Given the description of an element on the screen output the (x, y) to click on. 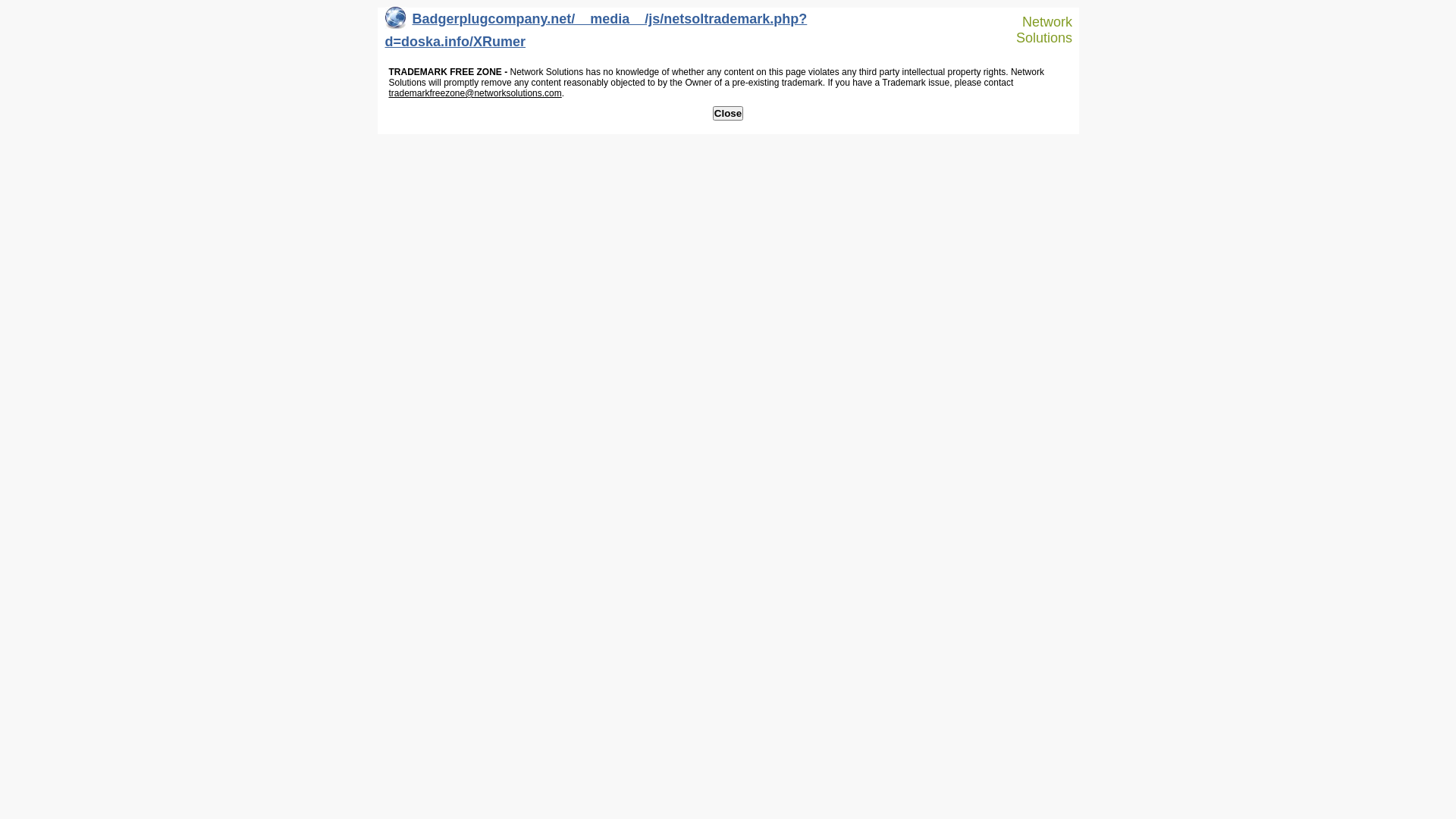
Network Solutions Element type: text (1037, 29)
Close Element type: text (727, 113)
trademarkfreezone@networksolutions.com Element type: text (474, 92)
